Given the description of an element on the screen output the (x, y) to click on. 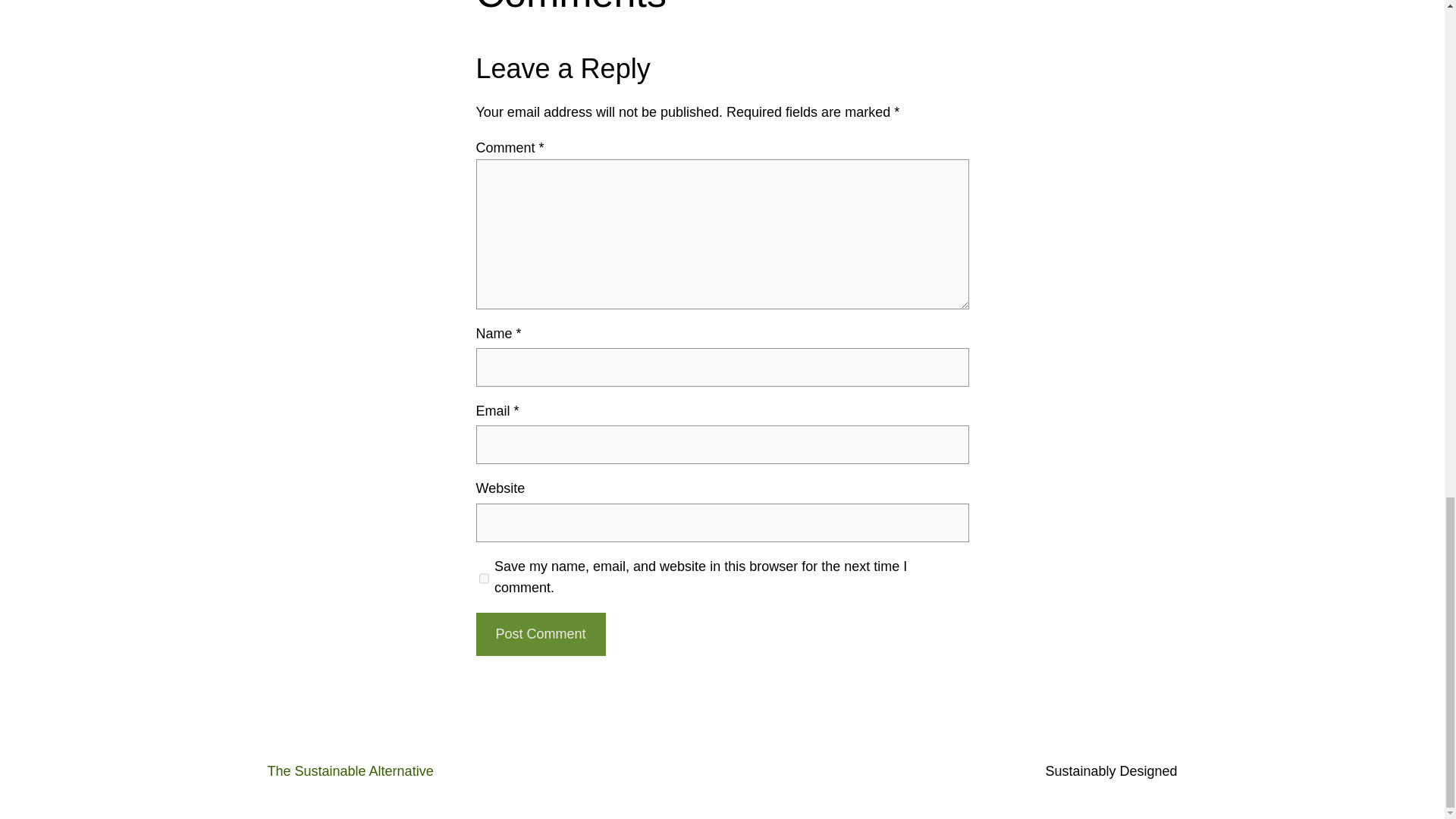
Post Comment (540, 634)
yes (484, 578)
